Given the description of an element on the screen output the (x, y) to click on. 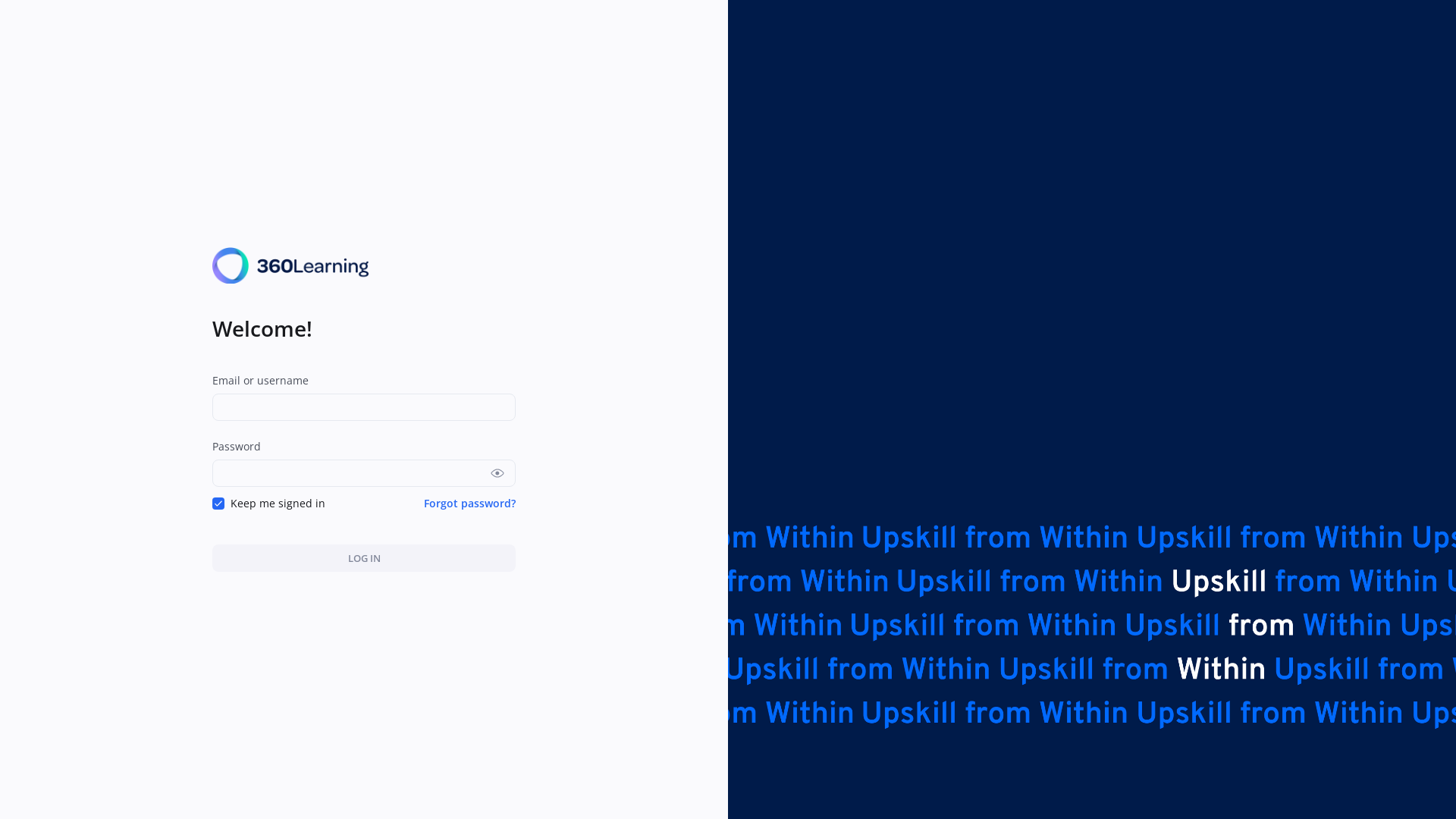
Forgot password? Element type: text (469, 502)
LOG IN Element type: text (363, 557)
